Given the description of an element on the screen output the (x, y) to click on. 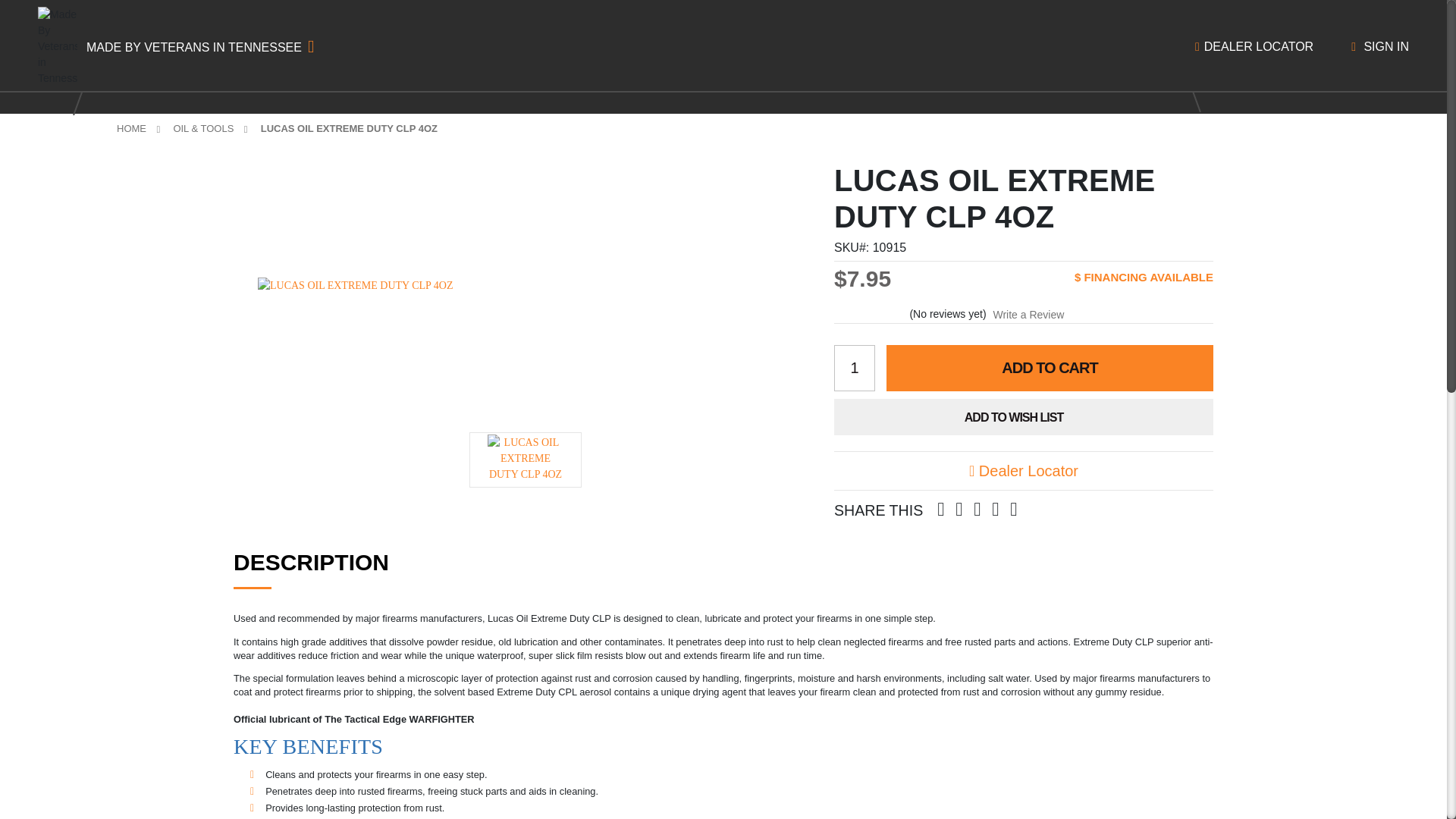
SIGN IN (1380, 46)
MADE BY VETERANS IN TENNESSEE (195, 46)
LUCAS OIL EXTREME DUTY CLP 4OZ (525, 459)
LUCAS OIL EXTREME DUTY CLP 4OZ (523, 285)
PARTS (528, 75)
UPPERS (417, 75)
Add to Cart (1049, 367)
Product rating is 0 of 5 (871, 313)
WEAPONS (293, 75)
DEALER LOCATOR (1254, 46)
